Given the description of an element on the screen output the (x, y) to click on. 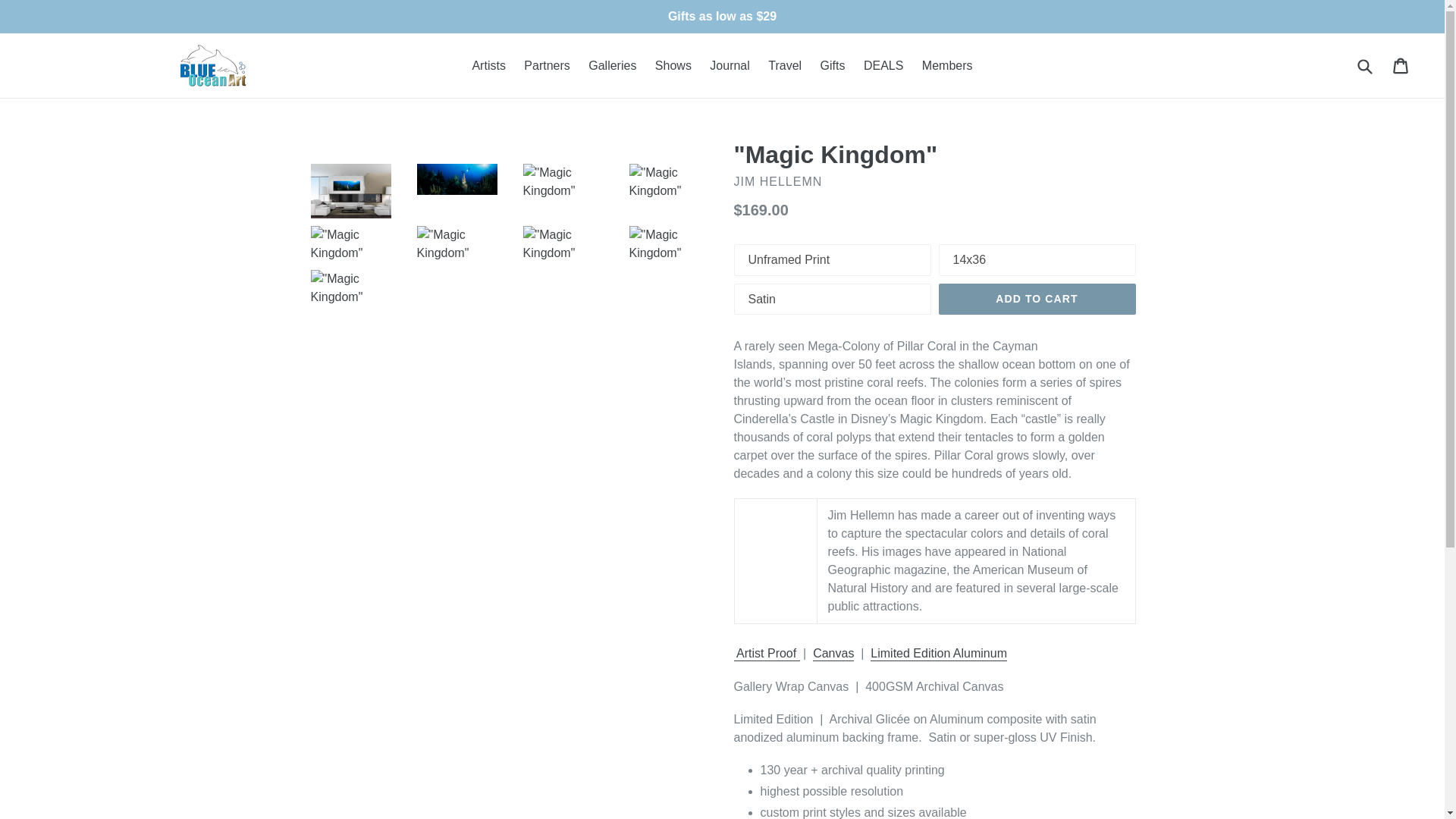
Gifts (1401, 65)
ADD TO CART (832, 65)
Journal (1037, 299)
Shows (729, 65)
Artists (672, 65)
Submit (488, 65)
Partners (1364, 65)
Members (546, 65)
Galleries (946, 65)
Travel (611, 65)
DEALS (784, 65)
